Given the description of an element on the screen output the (x, y) to click on. 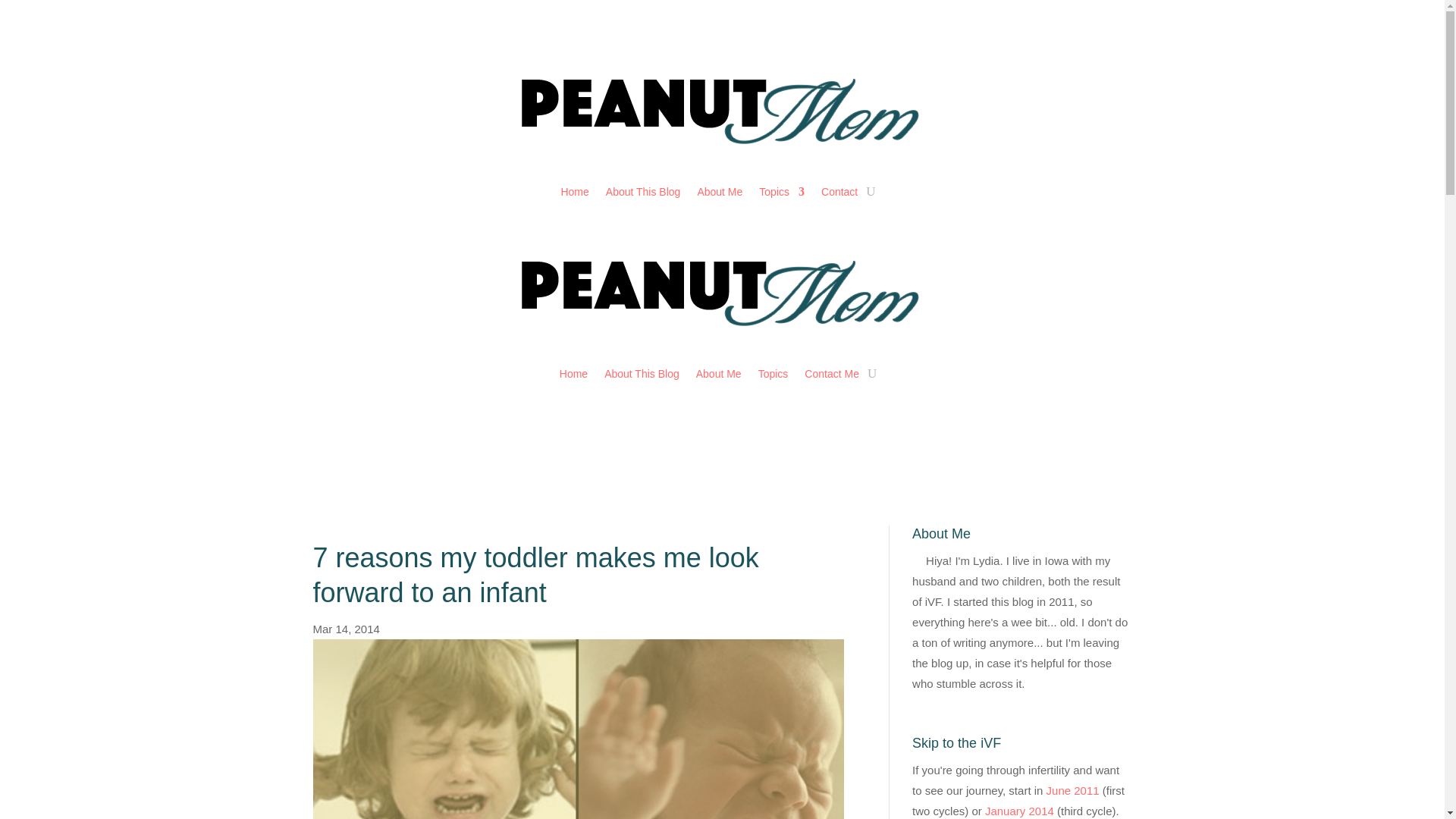
About This Blog (641, 373)
Contact Me (832, 373)
January 2014 (1019, 810)
June 2011 (1072, 789)
Why this site exists, in 400 words or less (643, 191)
toddlerinfant (578, 729)
About This Blog (643, 191)
